Given the description of an element on the screen output the (x, y) to click on. 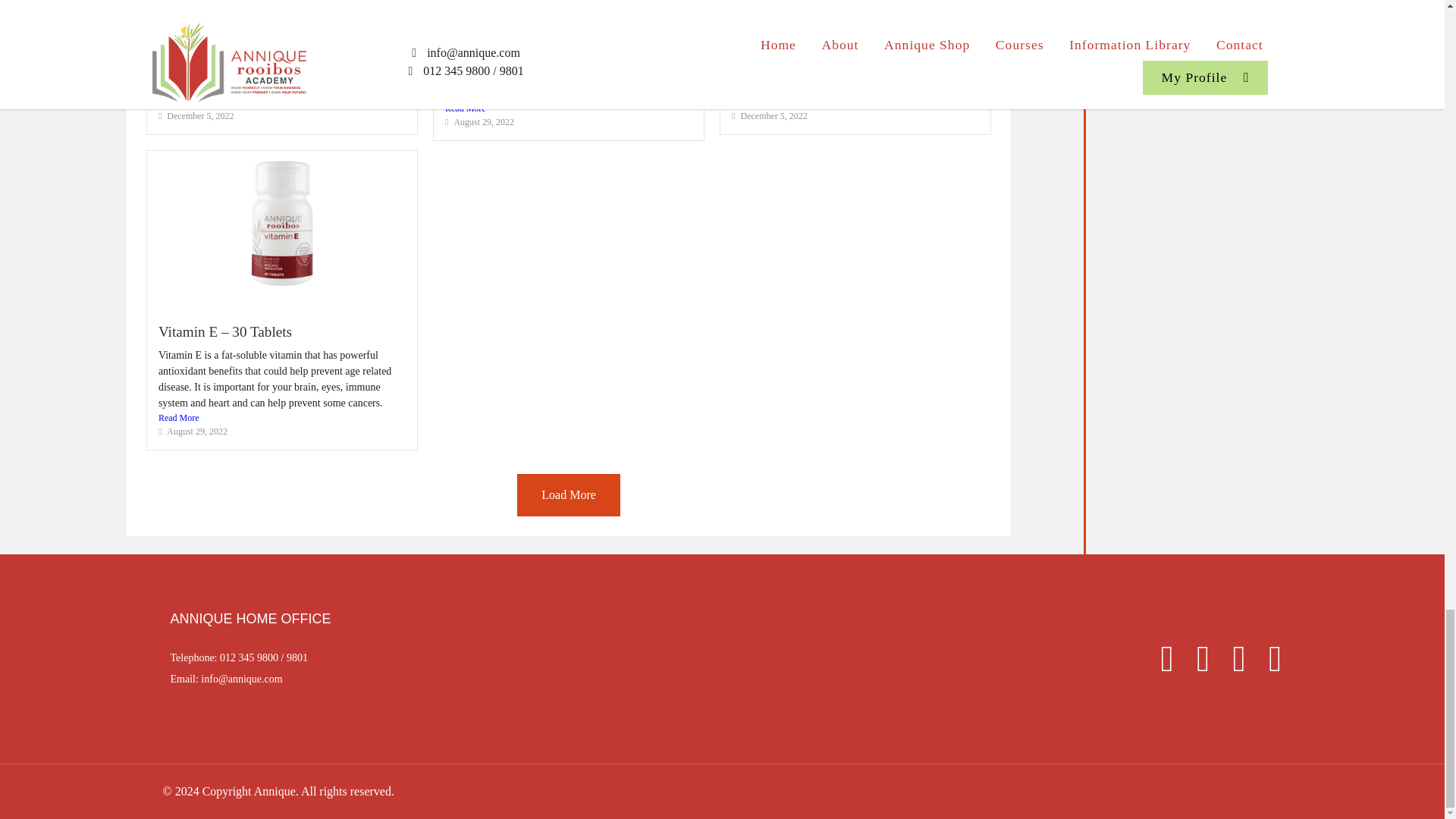
Chromium Picolinate 30 Tablets (826, 4)
Facebook (1159, 664)
Fat Attack 60 Capsules (225, 4)
